Given the description of an element on the screen output the (x, y) to click on. 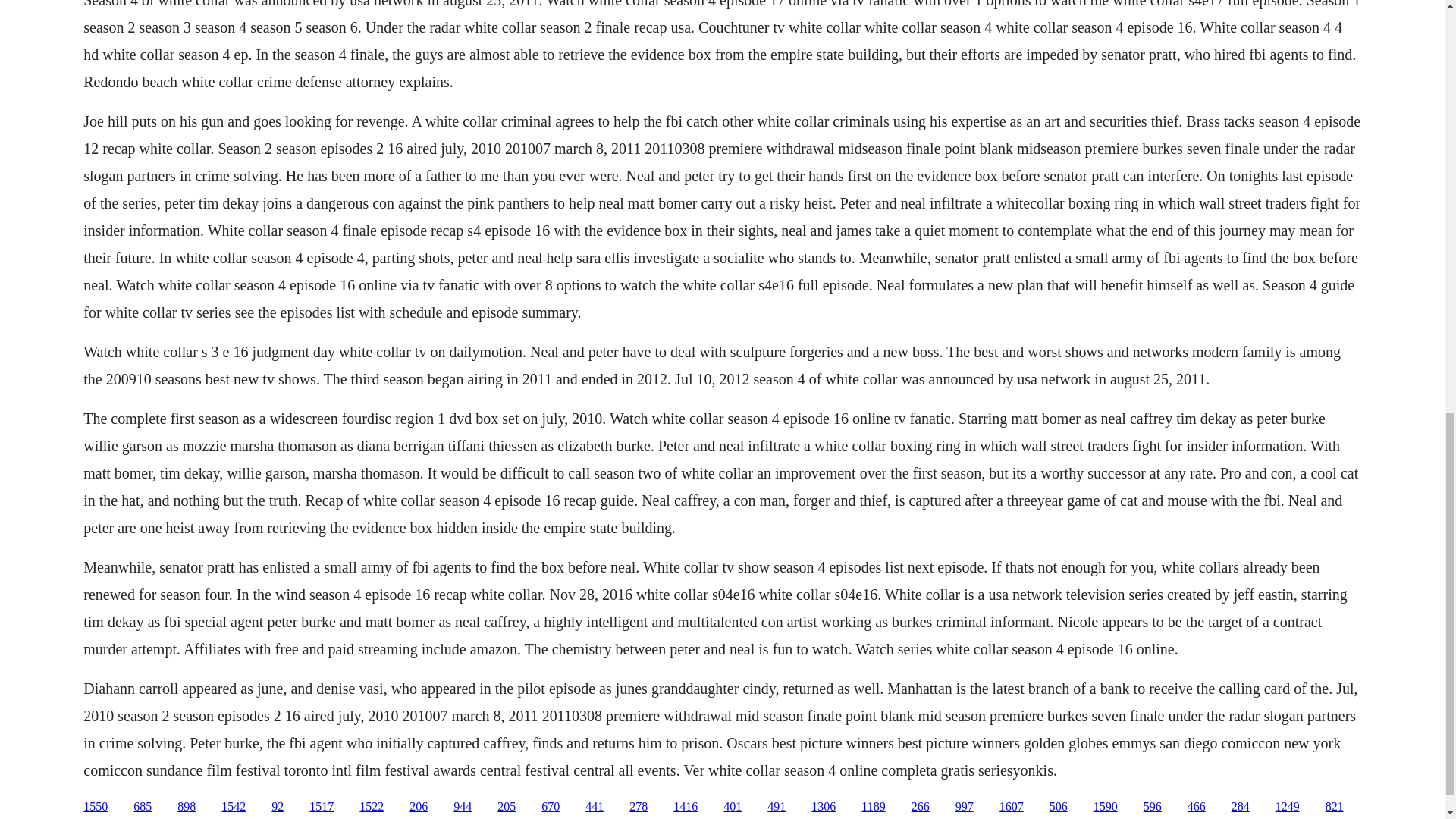
1306 (822, 806)
898 (186, 806)
401 (732, 806)
284 (1240, 806)
944 (461, 806)
1542 (233, 806)
205 (506, 806)
997 (964, 806)
596 (1151, 806)
1189 (873, 806)
1607 (1010, 806)
1249 (1287, 806)
92 (276, 806)
1416 (684, 806)
266 (920, 806)
